Given the description of an element on the screen output the (x, y) to click on. 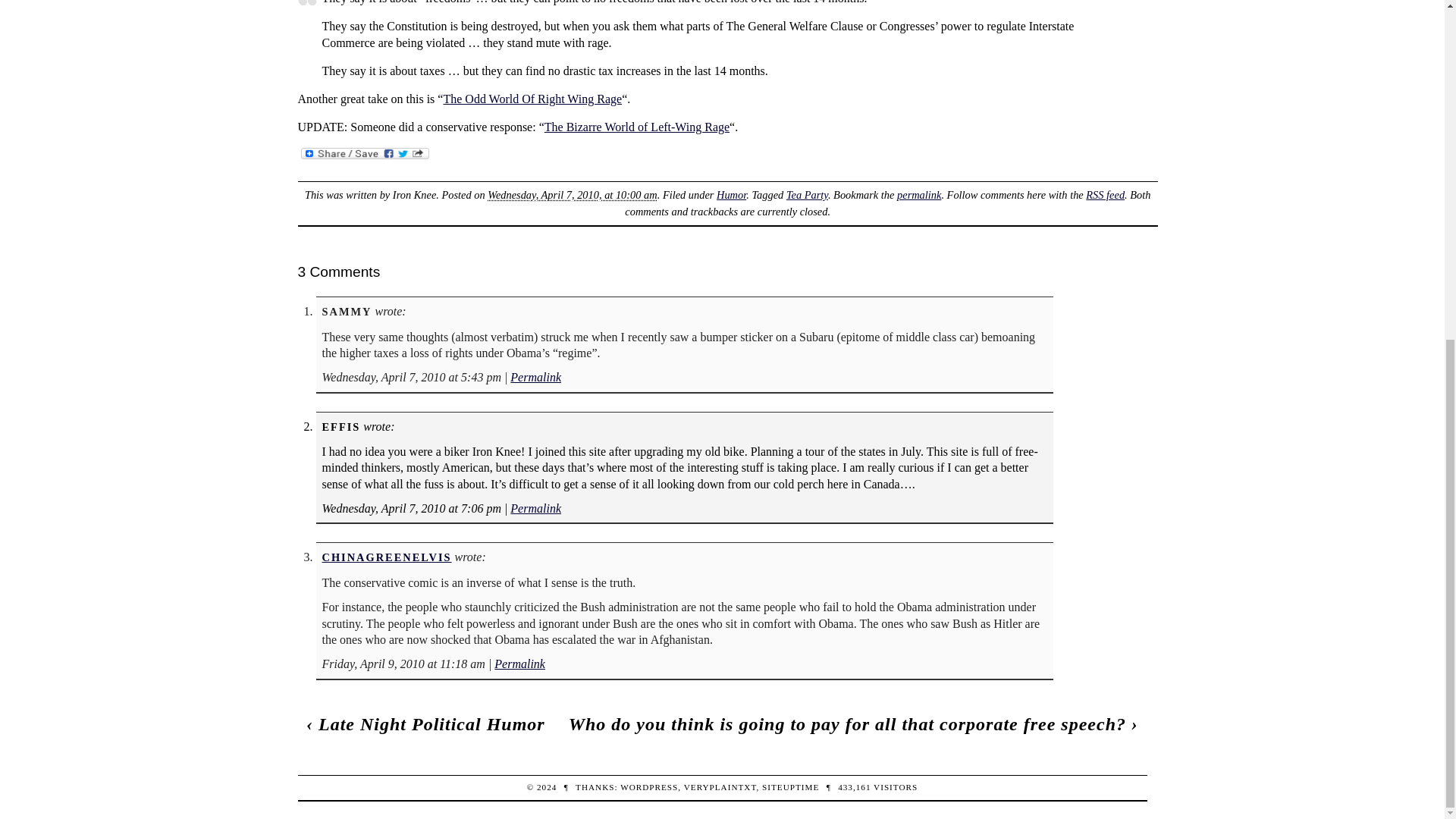
Permalink (535, 377)
Permalink to Tea for Two (918, 194)
The Bizarre World of Left-Wing Rage (636, 126)
Late Night Political Humor (431, 723)
Humor (730, 194)
permalink (918, 194)
Permalink to this comment (535, 377)
2010-04-07T10:00:44-0600 (571, 194)
Permalink to this comment (519, 663)
Permalink to this comment (535, 508)
The Odd World Of Right Wing Rage (531, 98)
CHINAGREENELVIS (386, 557)
RSS feed (1105, 194)
Permalink (519, 663)
